Given the description of an element on the screen output the (x, y) to click on. 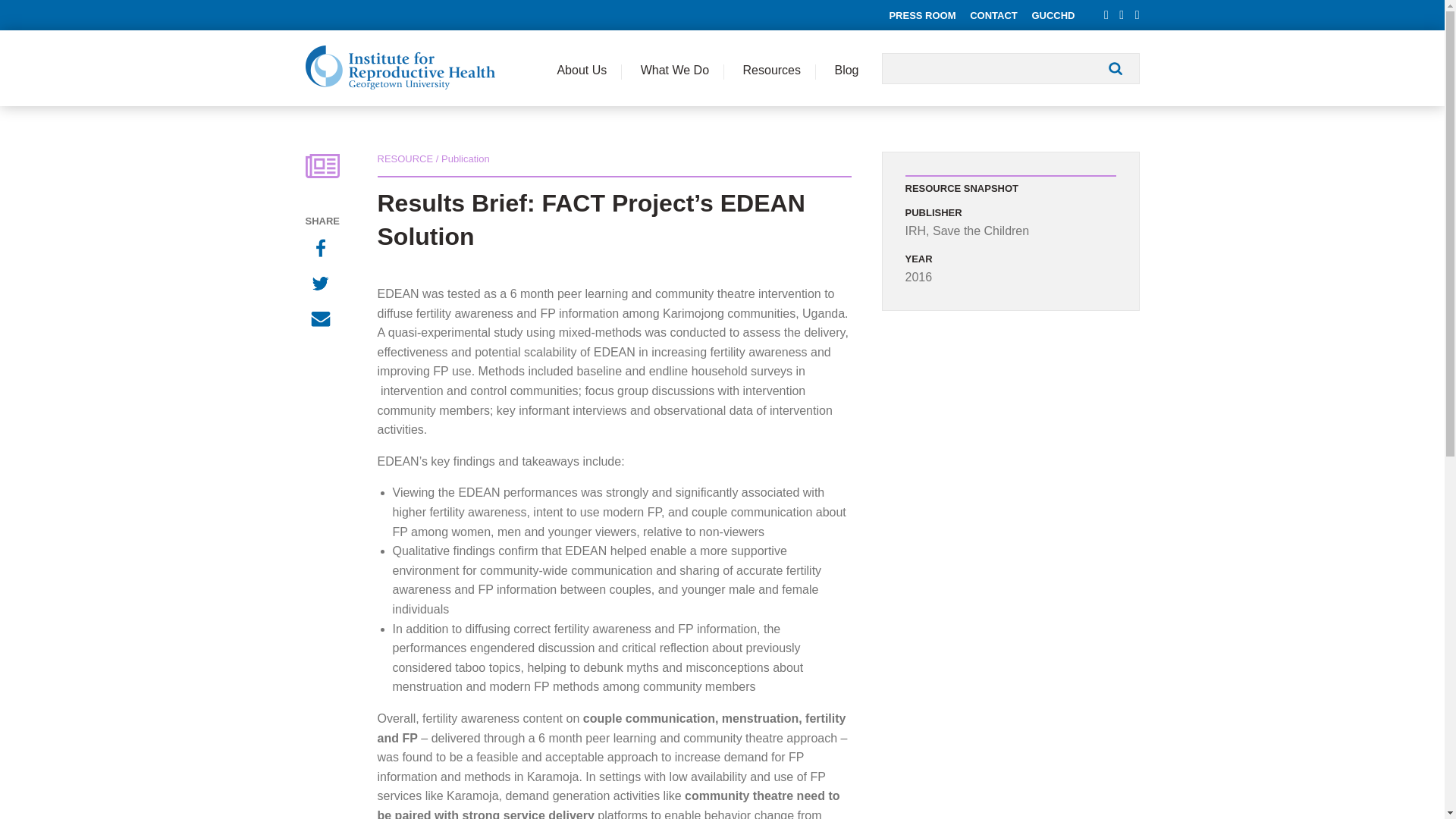
Email (321, 320)
Facebook (321, 249)
PRESS ROOM (921, 15)
Institute for Reproductive Health (399, 67)
Blog (845, 68)
CONTACT (993, 15)
Search (1115, 68)
Resources (771, 68)
Search (1115, 68)
GUCCHD (1052, 15)
About Us (581, 68)
Twitter (321, 285)
What We Do (674, 68)
